Given the description of an element on the screen output the (x, y) to click on. 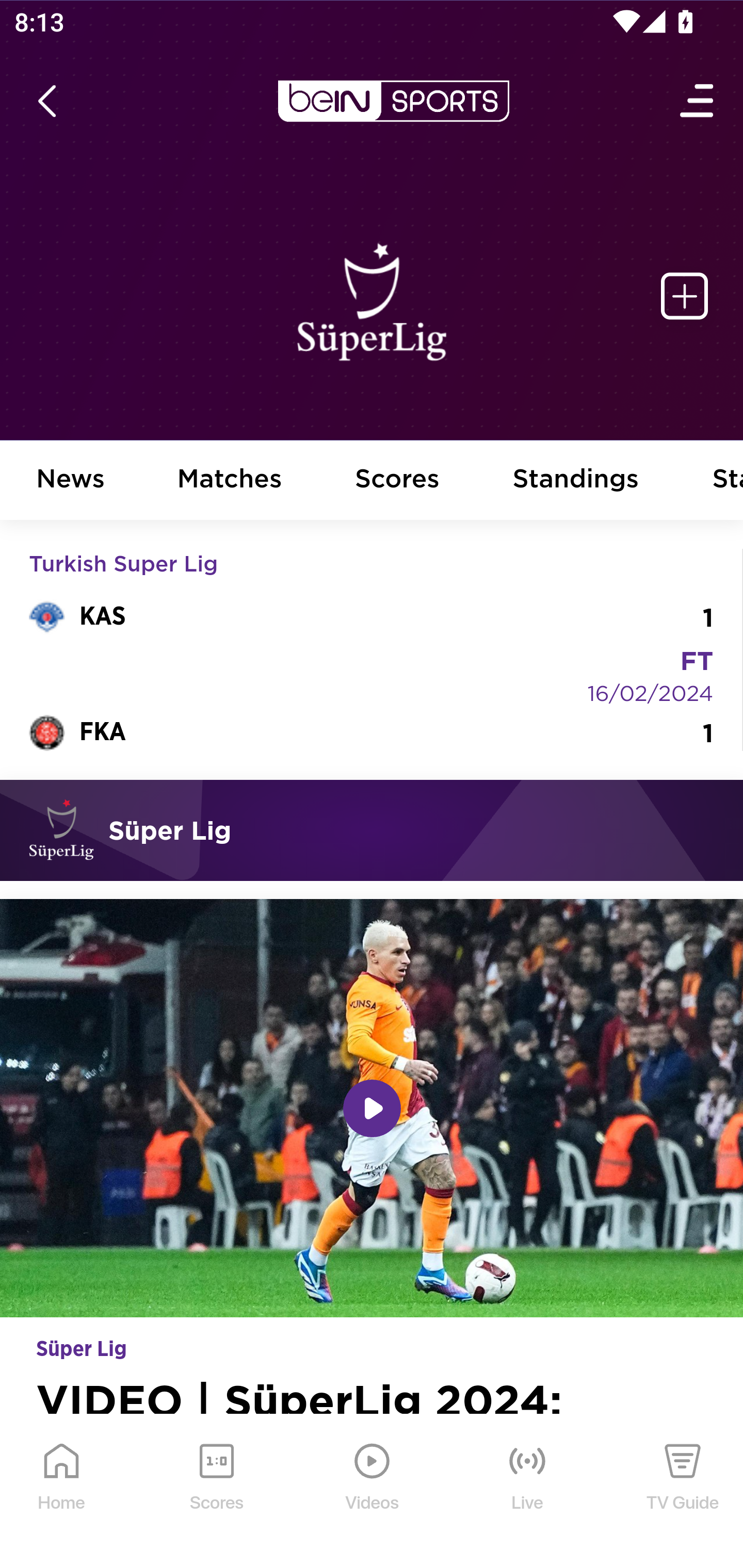
en-us?platform=mobile_android bein logo white (392, 101)
icon back (46, 101)
Open Menu Icon (697, 101)
News (70, 480)
Matches (229, 480)
Scores (397, 480)
Standings (575, 480)
Home Home Icon Home (61, 1491)
Scores Scores Icon Scores (216, 1491)
Videos Videos Icon Videos (372, 1491)
TV Guide TV Guide Icon TV Guide (682, 1491)
